Given the description of an element on the screen output the (x, y) to click on. 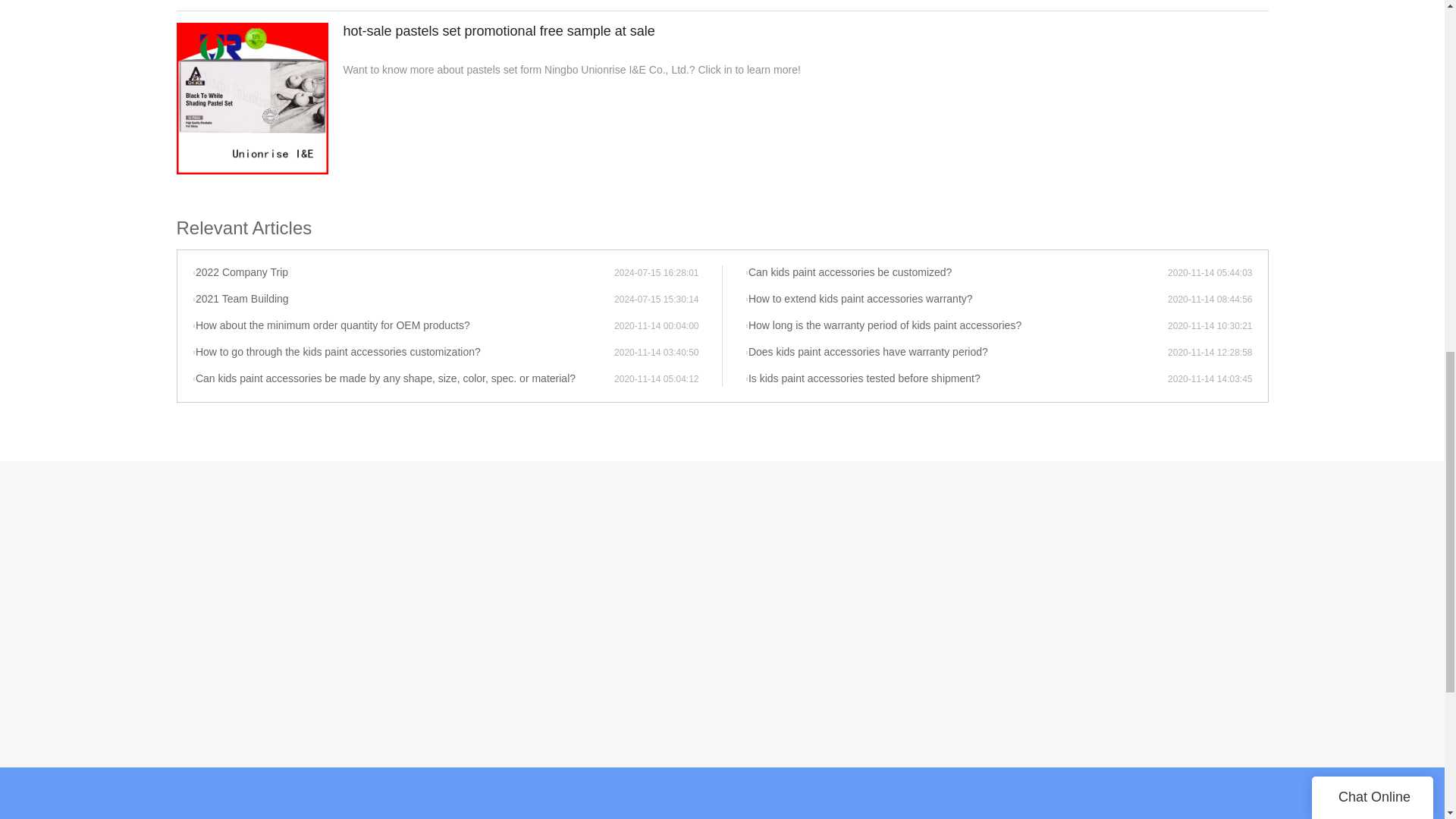
2021 Team Building (403, 299)
How to go through the kids paint accessories customization? (403, 352)
Can kids paint accessories be customized? (955, 272)
2022 Company Trip (403, 272)
How about the minimum order quantity for OEM products? (403, 325)
